Given the description of an element on the screen output the (x, y) to click on. 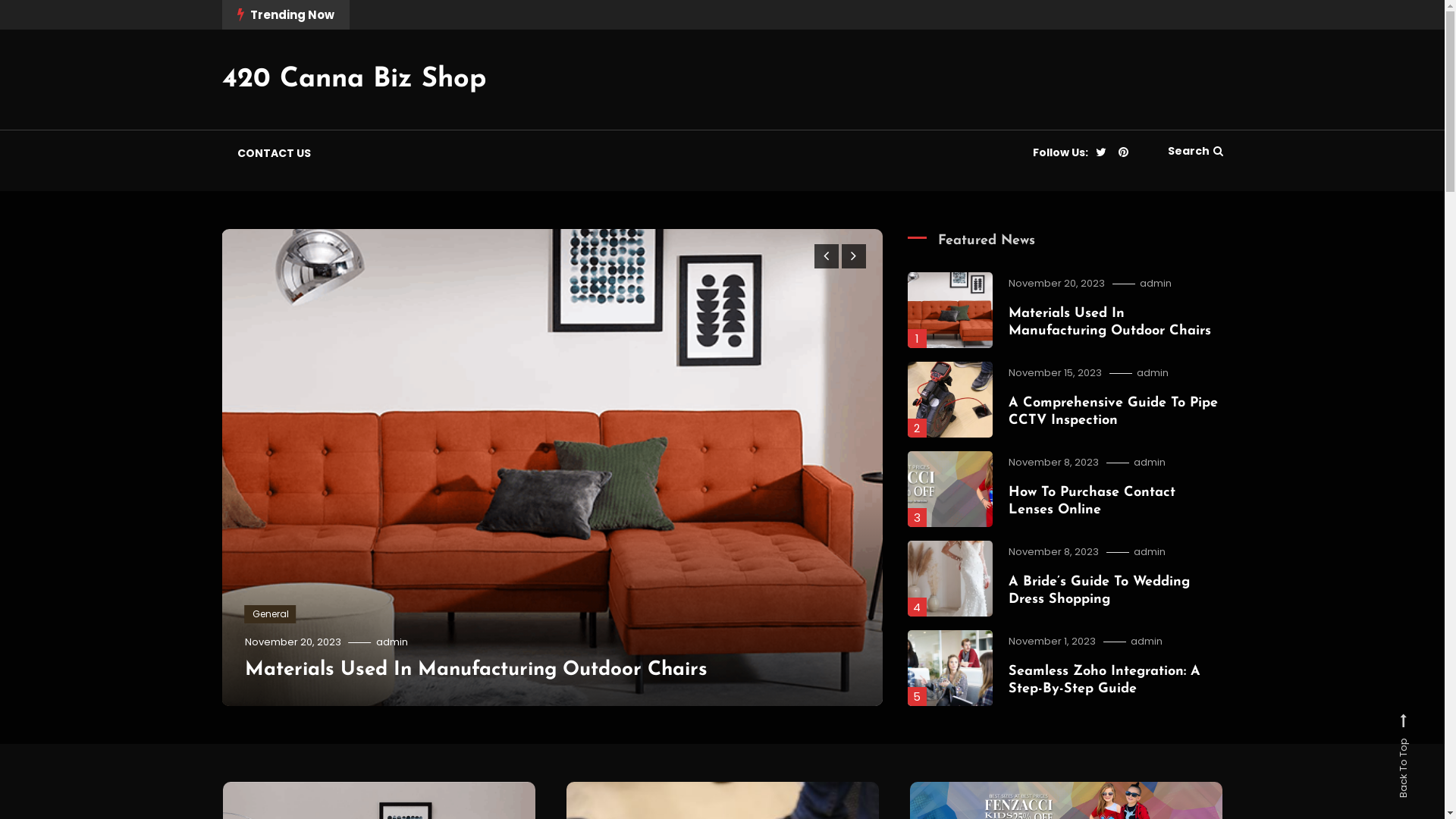
November 20, 2023 Element type: text (292, 641)
Materials Used In Manufacturing Outdoor Chairs Element type: text (1109, 322)
admin Element type: text (1146, 640)
General Element type: text (270, 614)
admin Element type: text (1149, 551)
admin Element type: text (391, 641)
Seamless Zoho Integration: A Step-By-Step Guide Element type: text (1104, 680)
CONTACT US Element type: text (273, 152)
A Comprehensive Guide To Pipe CCTV Inspection Element type: text (1112, 411)
November 15, 2023 Element type: text (1054, 372)
Search Element type: text (1195, 150)
November 8, 2023 Element type: text (1053, 462)
admin Element type: text (1152, 372)
admin Element type: text (1155, 283)
admin Element type: text (1149, 462)
November 20, 2023 Element type: text (1056, 283)
November 1, 2023 Element type: text (1051, 640)
Materials Used In Manufacturing Outdoor Chairs Element type: text (475, 669)
How To Purchase Contact Lenses Online Element type: text (1091, 501)
420 Canna Biz Shop Element type: text (353, 79)
November 8, 2023 Element type: text (1053, 551)
